Given the description of an element on the screen output the (x, y) to click on. 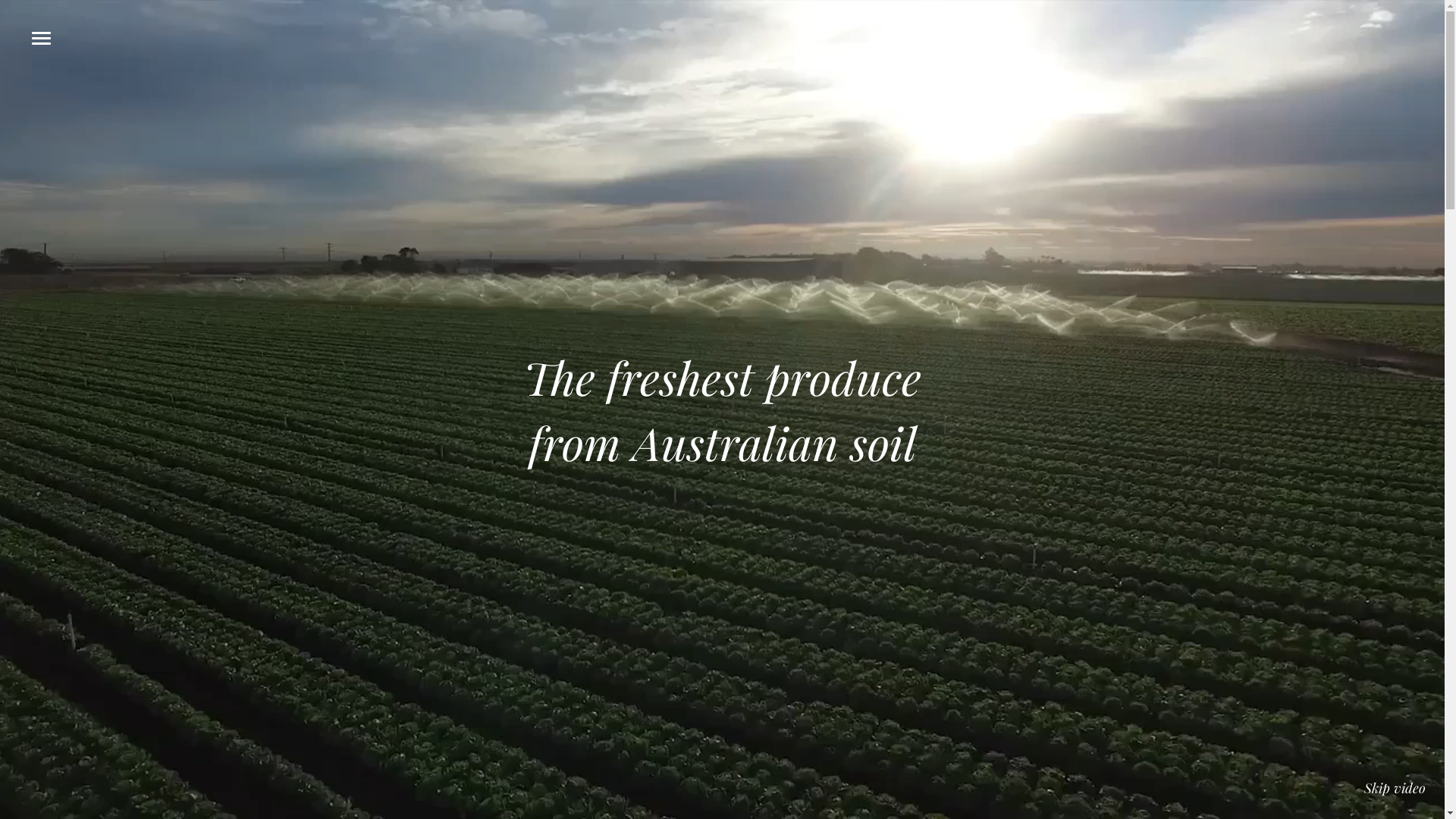
Toggle navigation Element type: text (40, 37)
Skip video Element type: text (1394, 789)
